Given the description of an element on the screen output the (x, y) to click on. 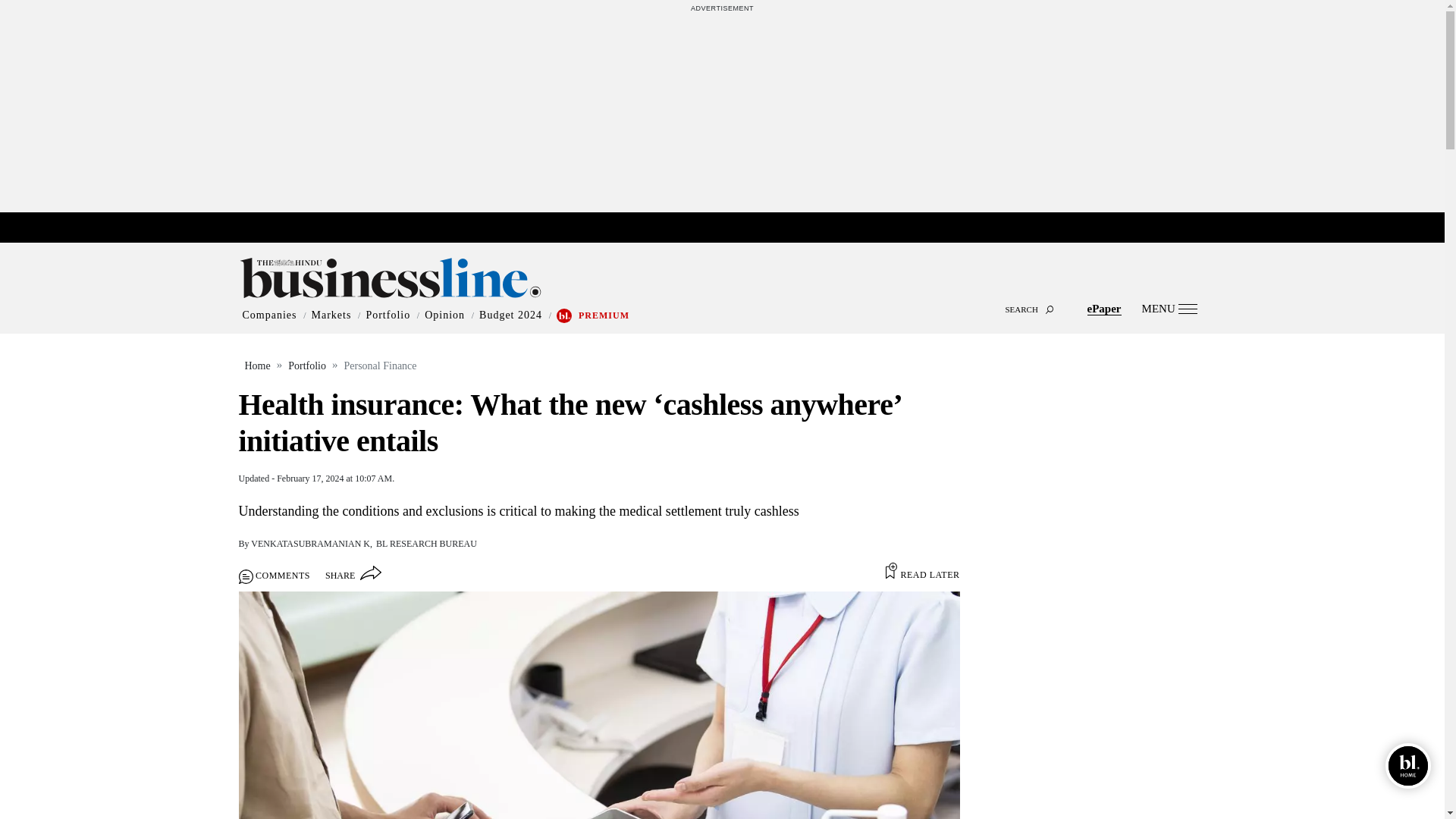
Markets (330, 315)
Companies (270, 315)
Opinion (444, 315)
marketupdate (729, 228)
MENU (1168, 308)
Portfolio (387, 315)
ePaper (1104, 308)
PREMIUM (603, 315)
Budget 2024 (510, 315)
